Given the description of an element on the screen output the (x, y) to click on. 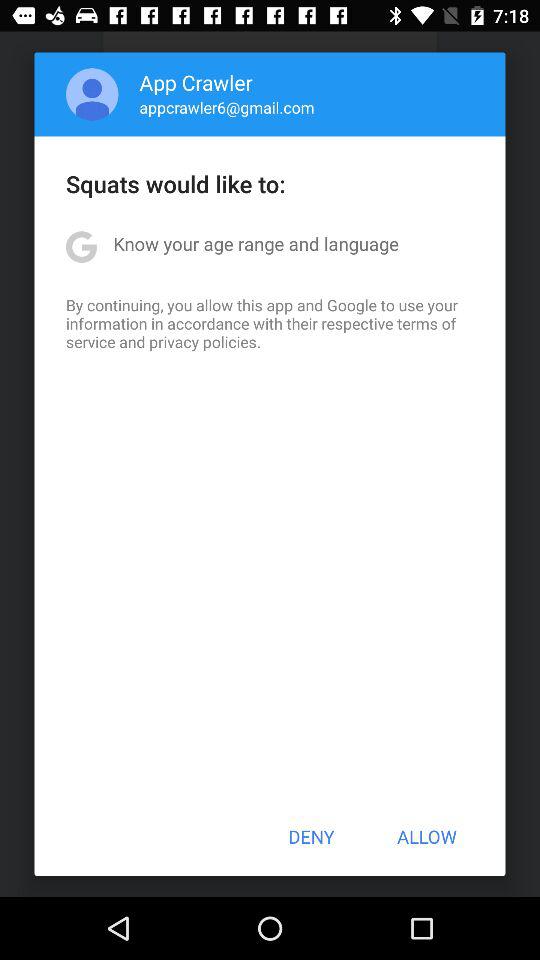
press the app crawler (195, 82)
